Given the description of an element on the screen output the (x, y) to click on. 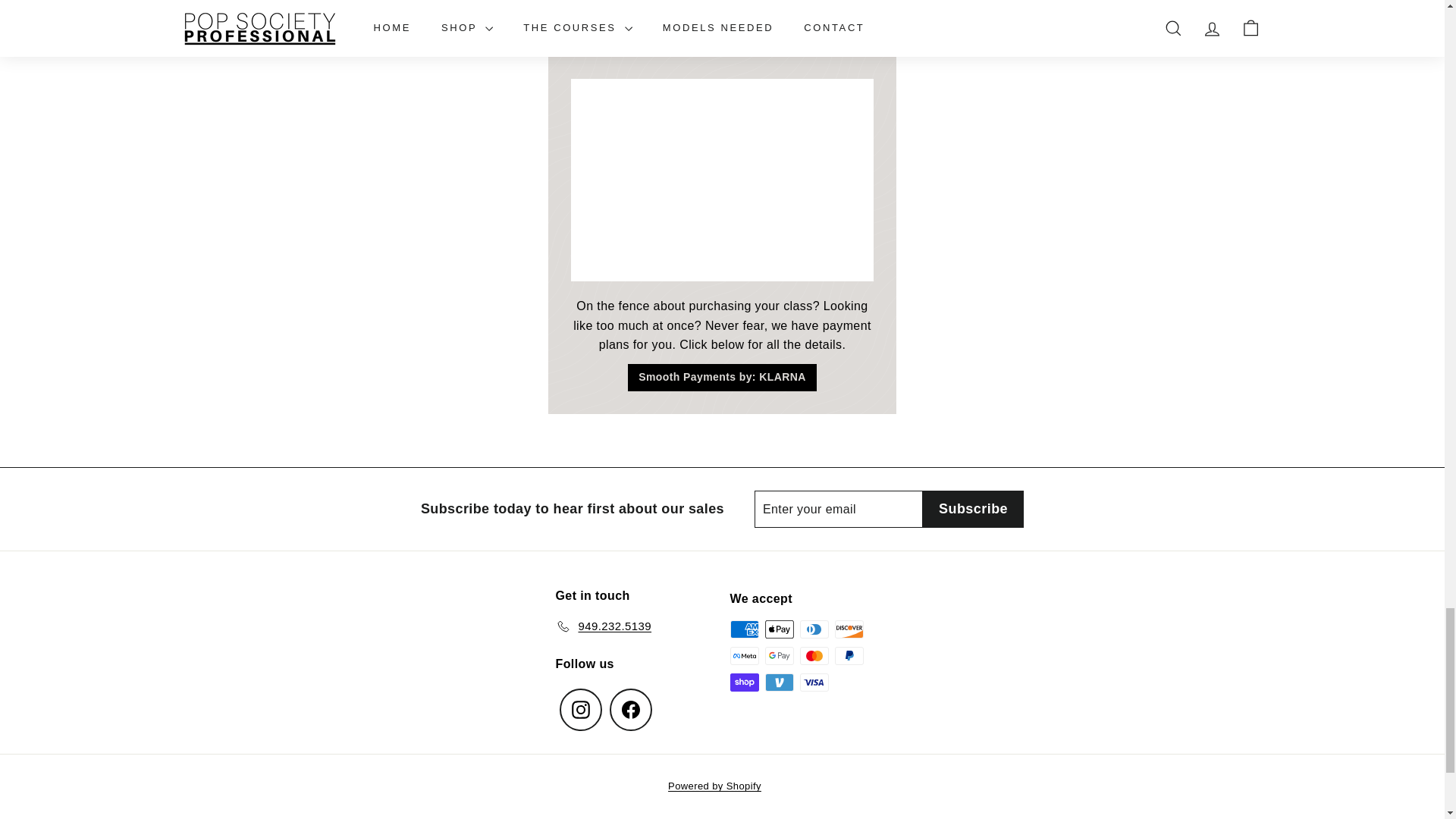
American Express (743, 628)
POP SOCIETY PRO on Facebook (631, 709)
Diners Club (813, 628)
Apple Pay (778, 628)
POP SOCIETY PRO on Instagram (580, 709)
instagram (580, 710)
